Given the description of an element on the screen output the (x, y) to click on. 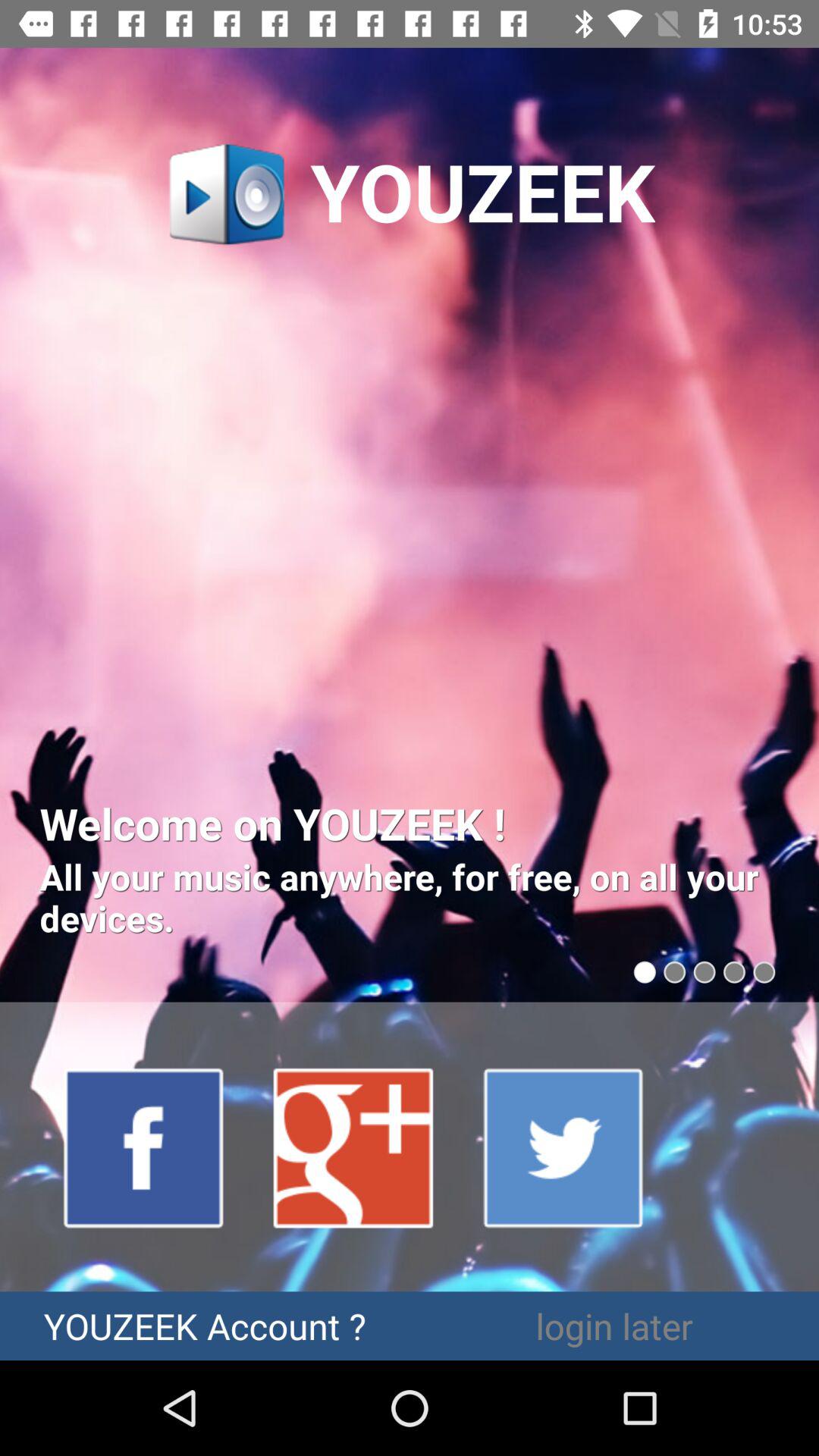
google plus account (354, 1146)
